Given the description of an element on the screen output the (x, y) to click on. 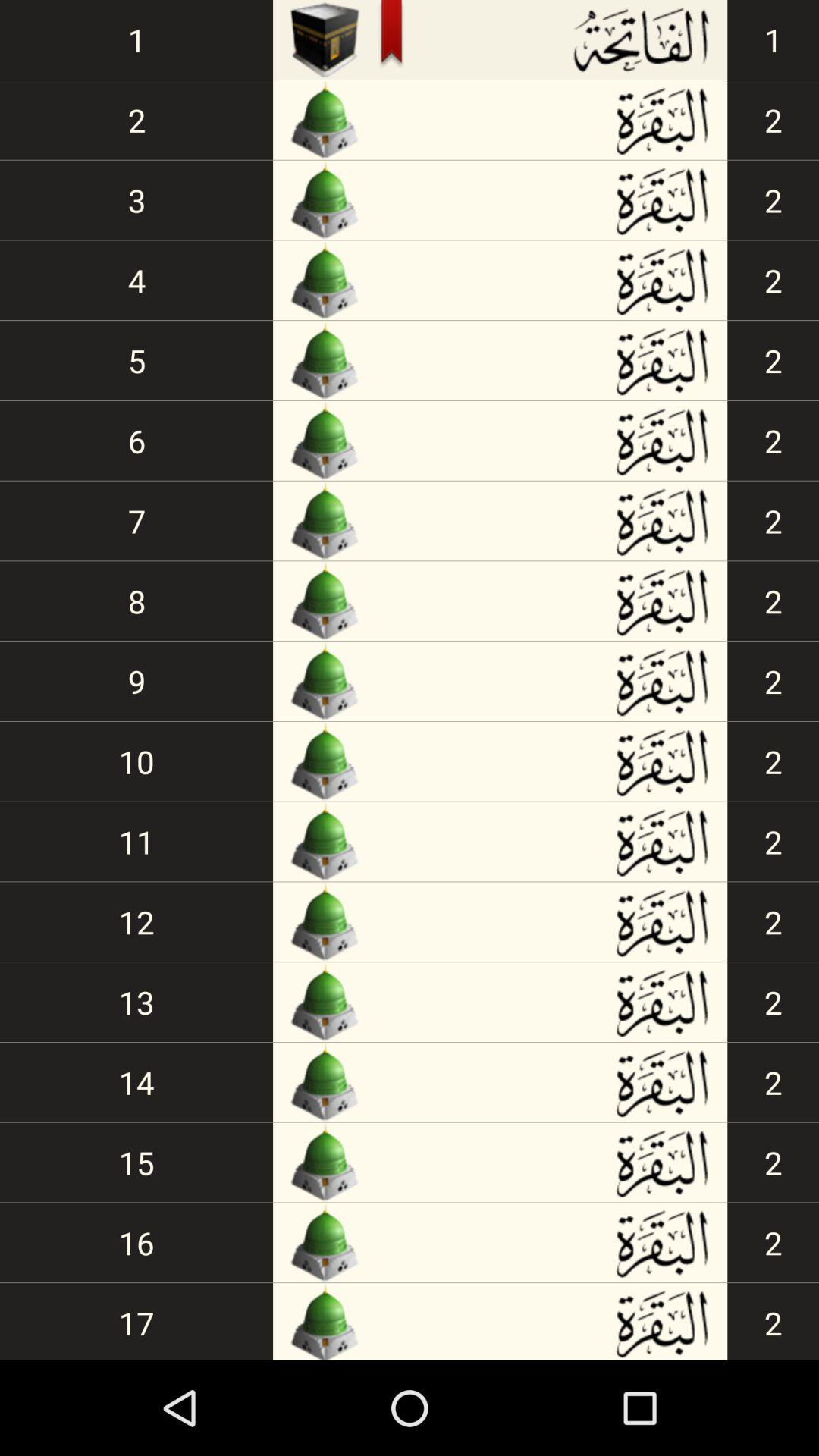
jump until the 12 item (136, 921)
